Given the description of an element on the screen output the (x, y) to click on. 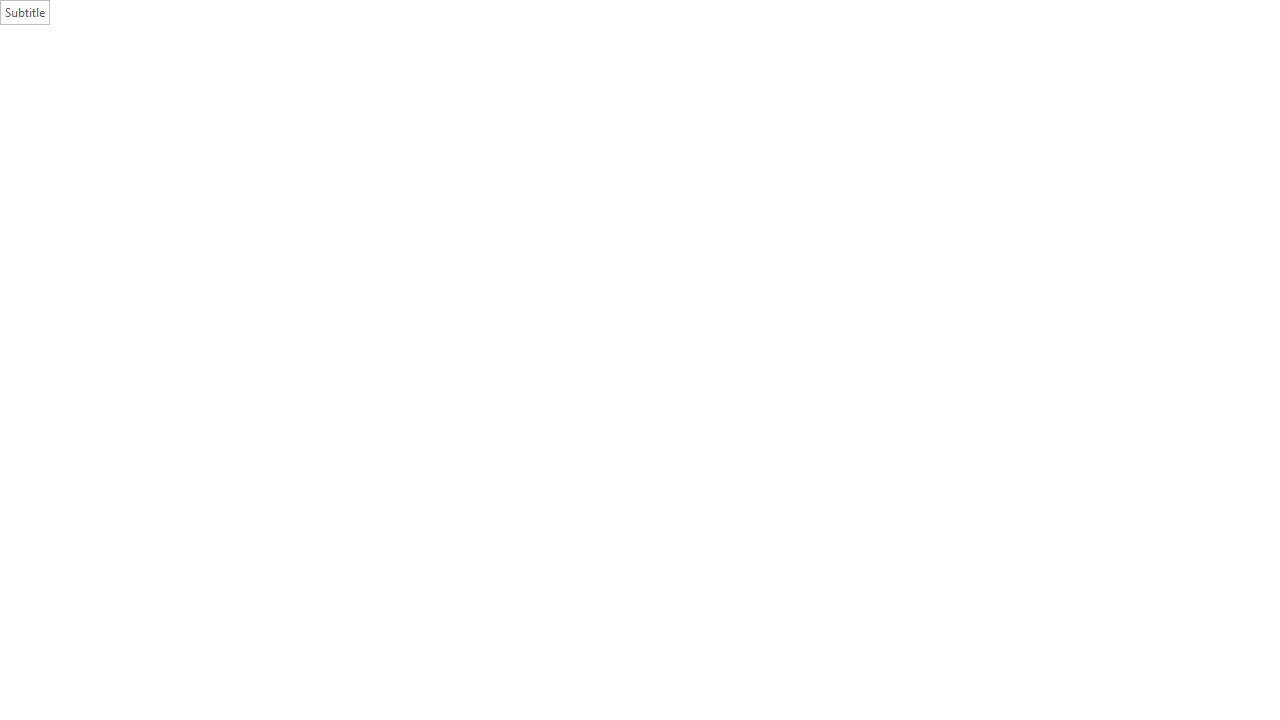
Phonetic Guide... (465, 87)
Change Case (404, 87)
Superscript (319, 119)
Bold (183, 119)
Paragraph... (792, 151)
